Given the description of an element on the screen output the (x, y) to click on. 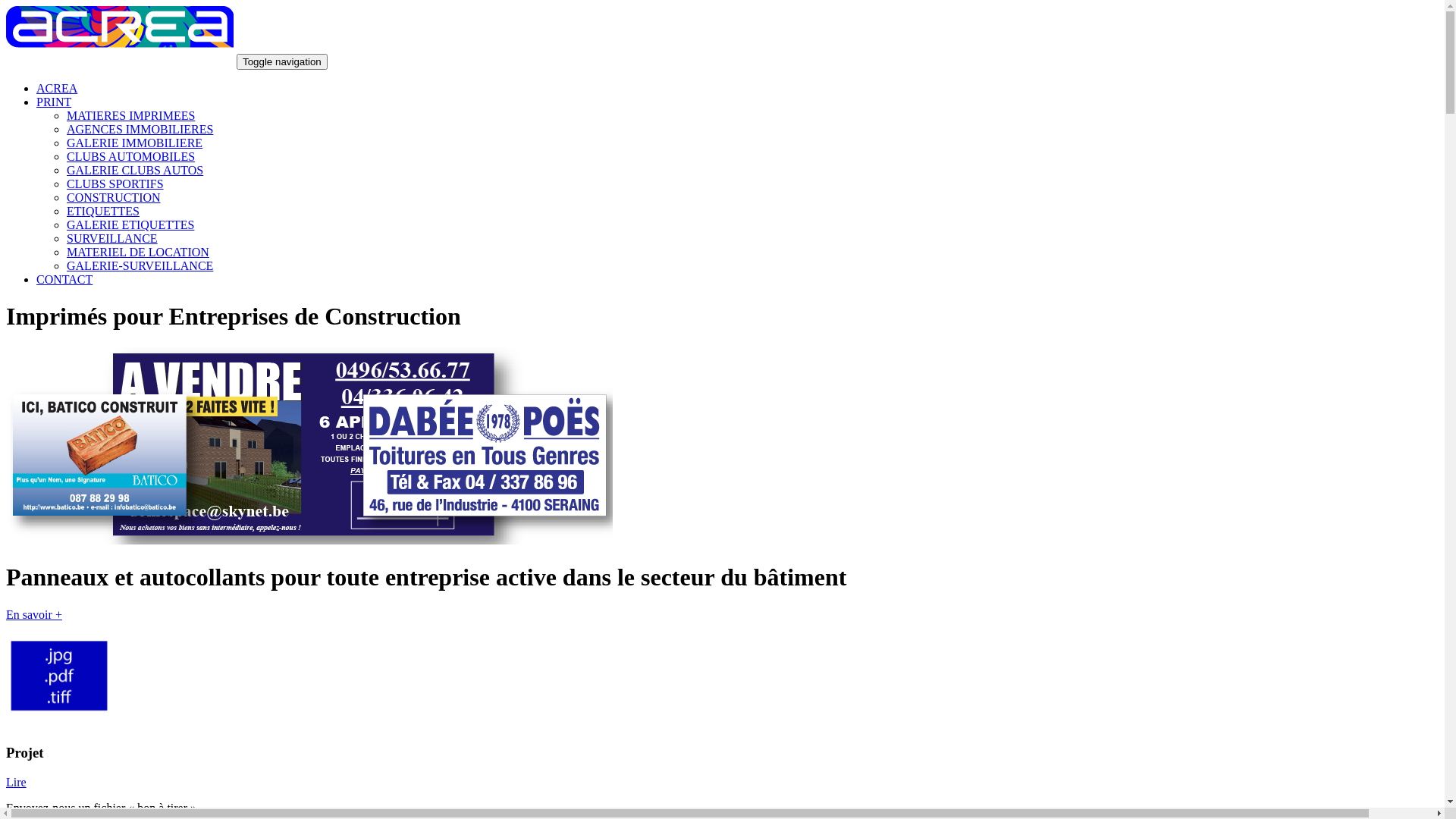
CLUBS AUTOMOBILES Element type: text (130, 156)
CONSTRUCTION Element type: text (113, 197)
SURVEILLANCE Element type: text (111, 238)
MATIERES IMPRIMEES Element type: text (130, 115)
GALERIE CLUBS AUTOS Element type: text (134, 169)
ACREA Element type: text (56, 87)
En savoir + Element type: text (34, 614)
PRINT Element type: text (53, 101)
Toggle navigation Element type: text (281, 61)
ETIQUETTES Element type: text (102, 210)
Lire Element type: text (16, 781)
CONTACT Element type: text (64, 279)
AGENCES IMMOBILIERES Element type: text (139, 128)
MATERIEL DE LOCATION Element type: text (137, 251)
CLUBS SPORTIFS Element type: text (114, 183)
GALERIE-SURVEILLANCE Element type: text (139, 265)
GALERIE IMMOBILIERE Element type: text (134, 142)
GALERIE ETIQUETTES Element type: text (130, 224)
